Given the description of an element on the screen output the (x, y) to click on. 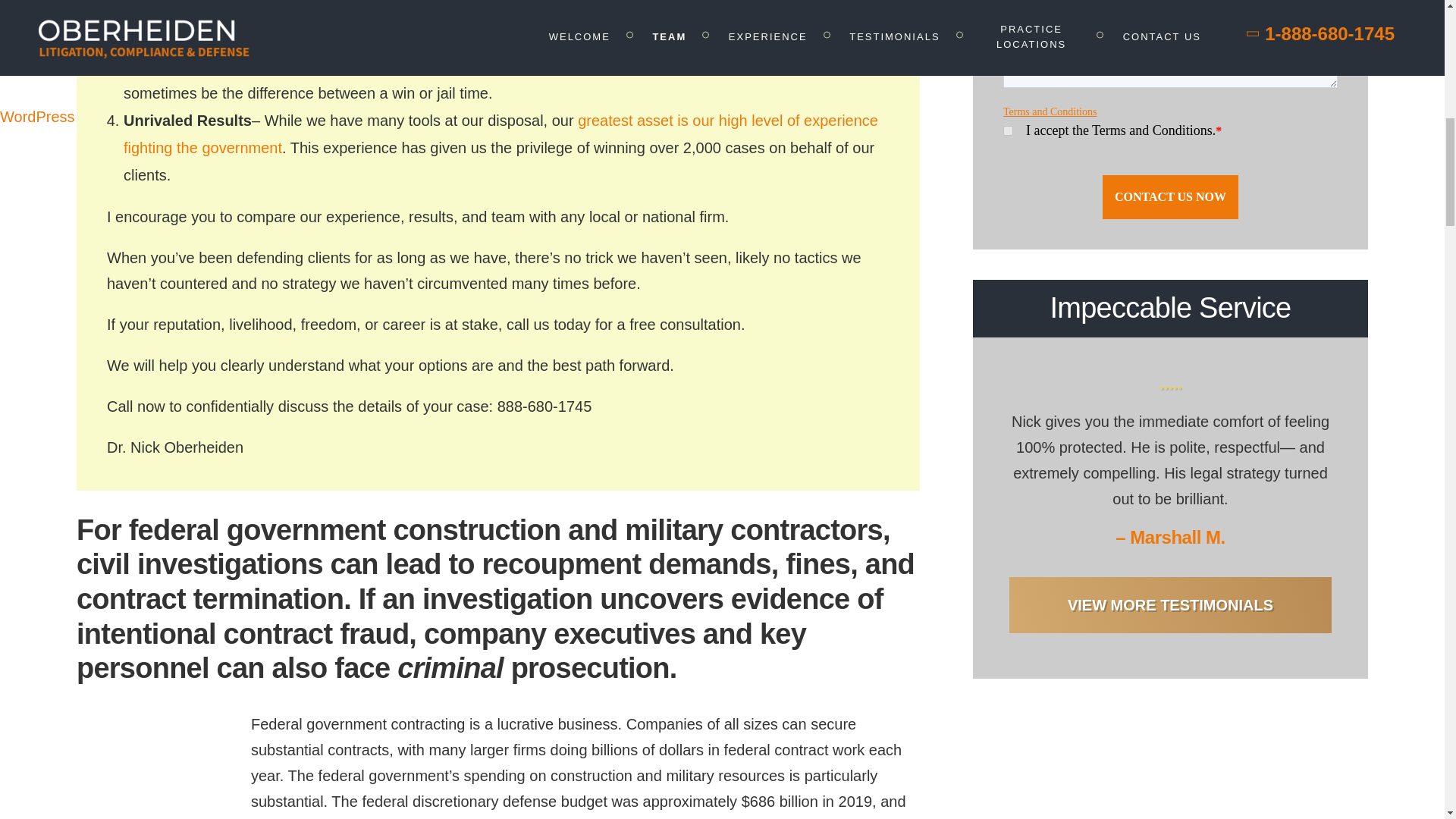
Terms and Conditions (1049, 111)
I accept the Terms and Conditions. (1008, 130)
Contact Us Now (1170, 197)
WordPress Lightbox (68, 116)
WordPress Lightbox (68, 116)
VIEW MORE TESTIMONIALS (1170, 605)
Contact Us Now (1170, 197)
